Given the description of an element on the screen output the (x, y) to click on. 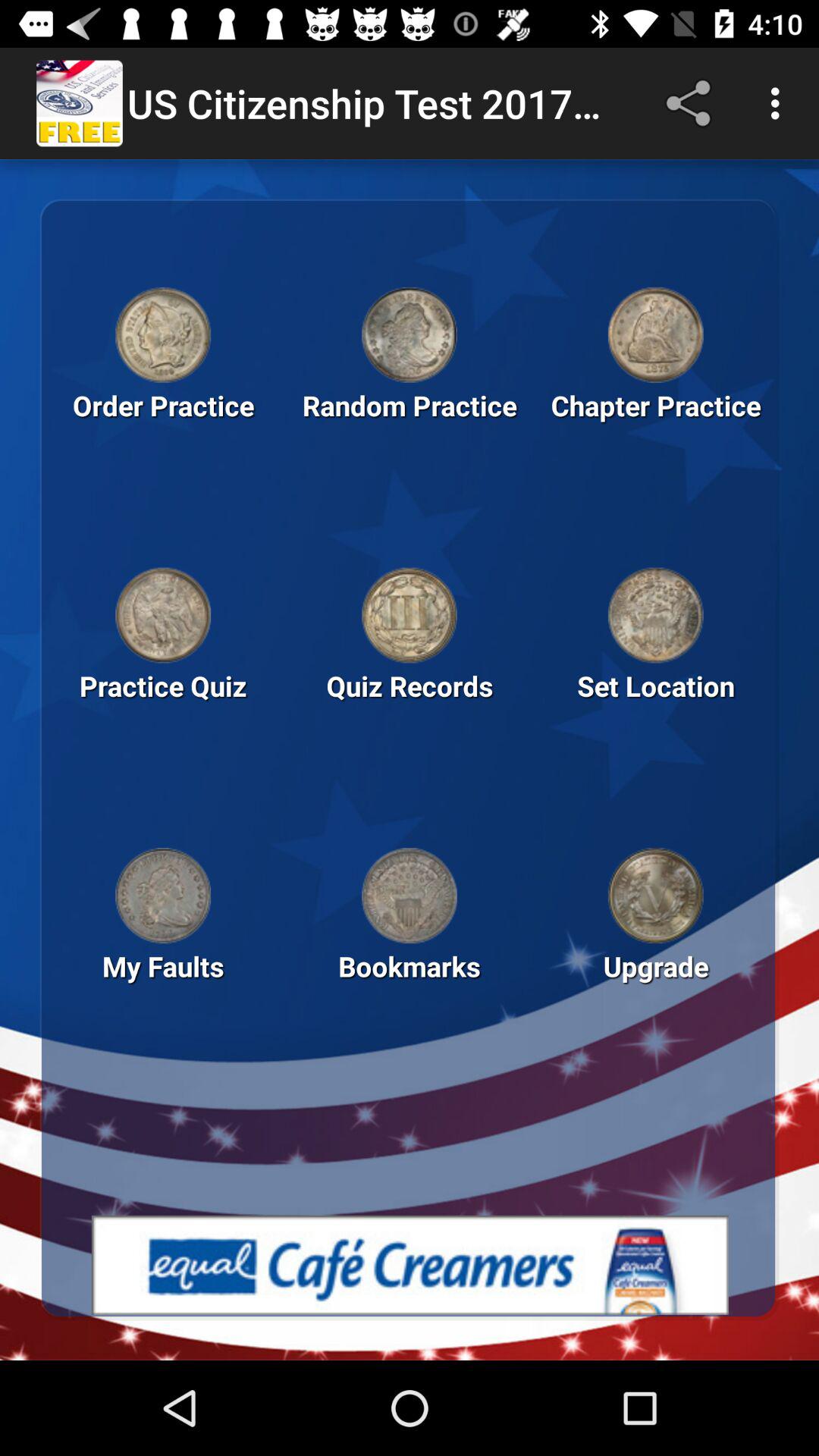
chapter practice (655, 334)
